Given the description of an element on the screen output the (x, y) to click on. 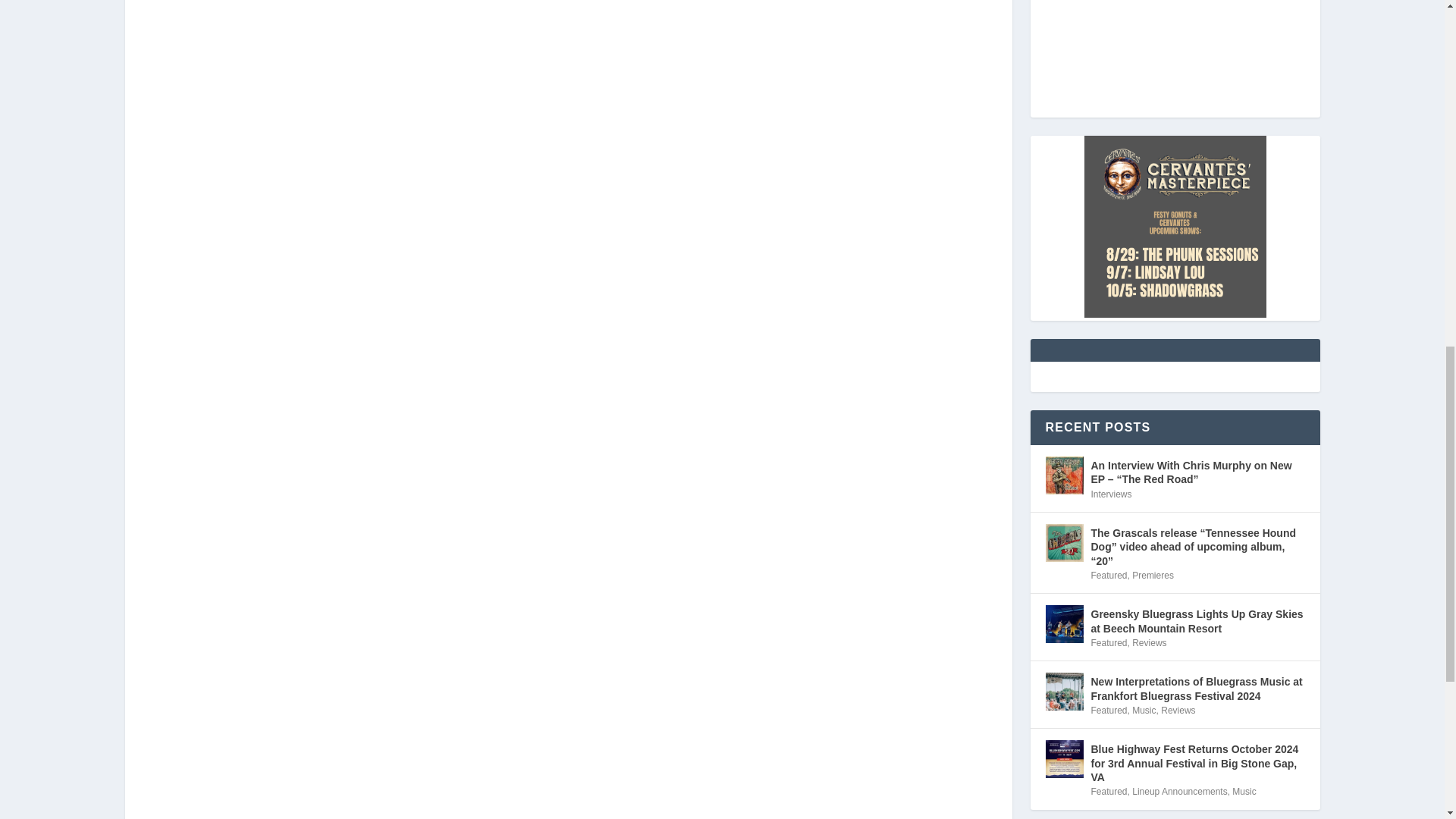
Spotify Embed: GoNuts for New Music: Summer 2024 (1174, 48)
